Given the description of an element on the screen output the (x, y) to click on. 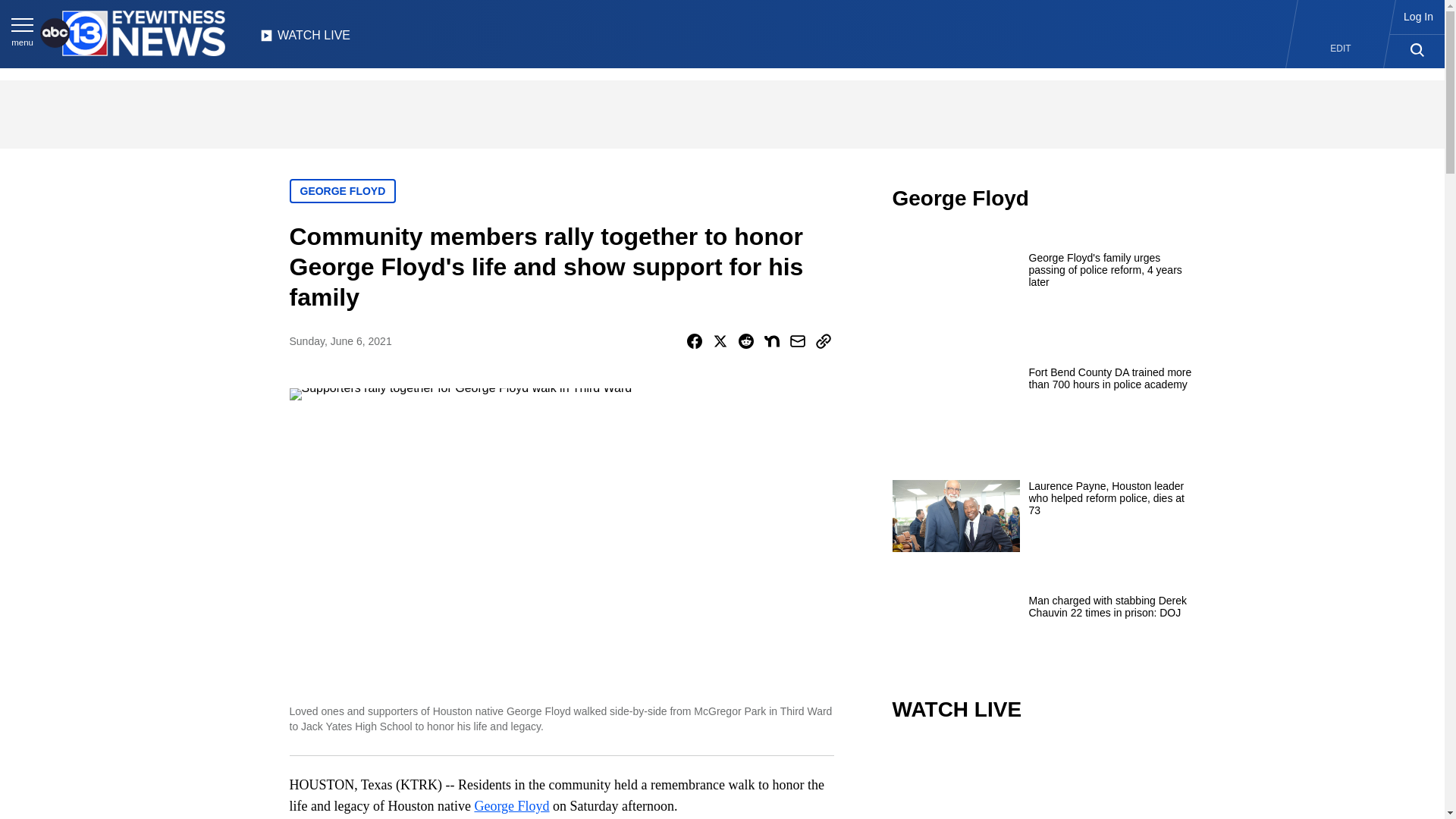
EDIT (1340, 48)
video.title (1043, 781)
WATCH LIVE (305, 39)
